Given the description of an element on the screen output the (x, y) to click on. 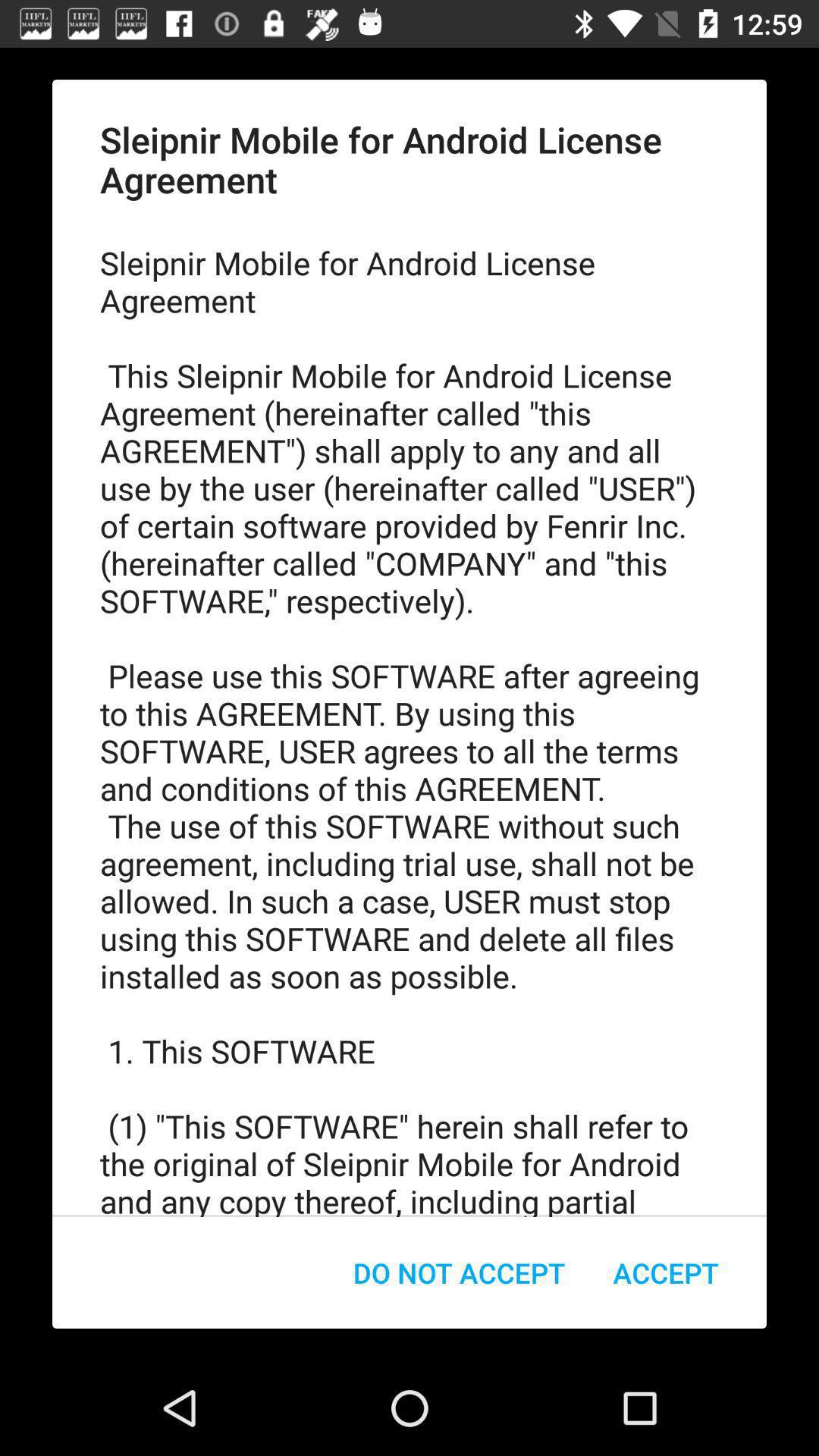
scroll until do not accept item (459, 1272)
